Given the description of an element on the screen output the (x, y) to click on. 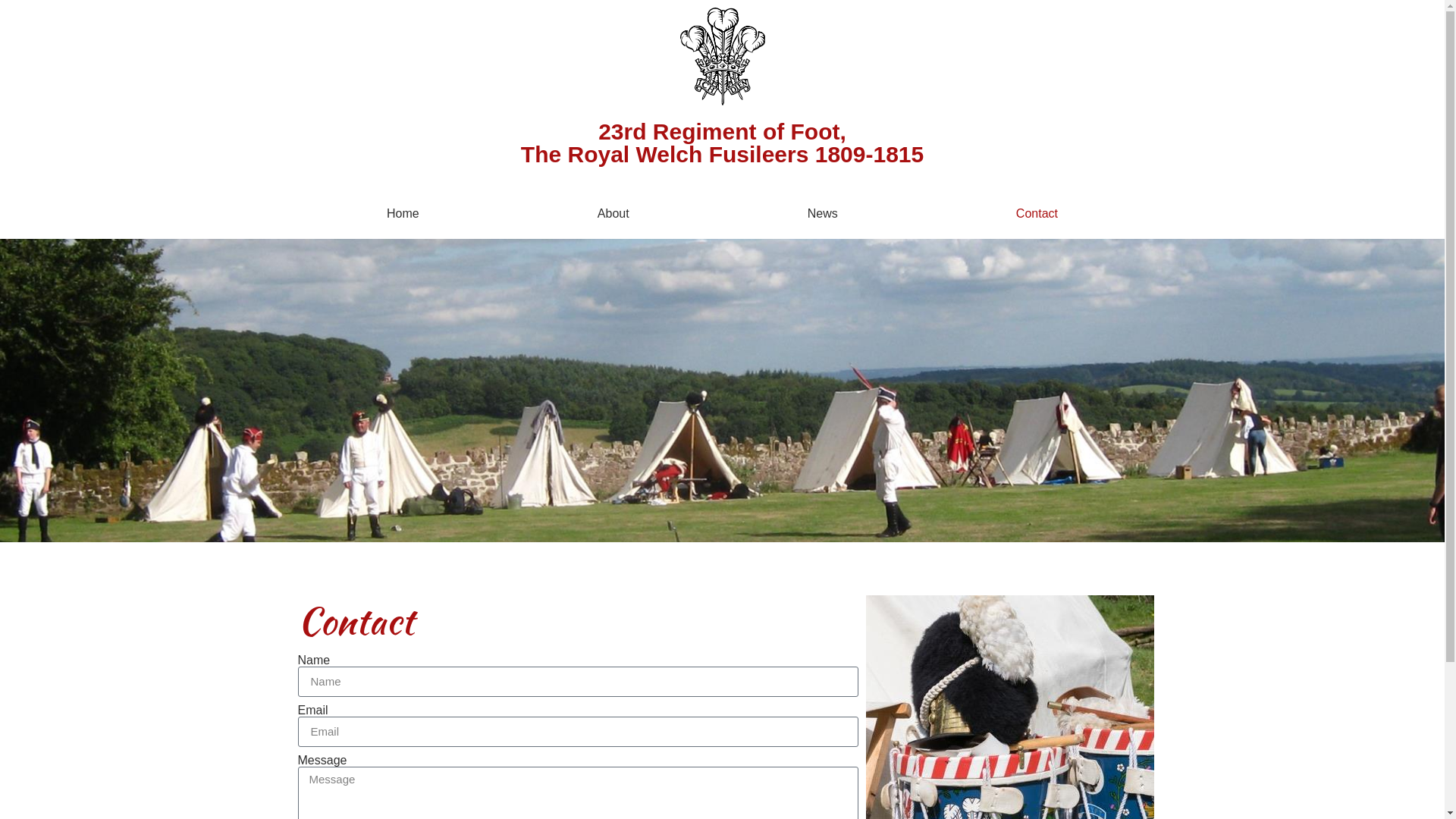
Contact Element type: text (1036, 213)
Home Element type: text (402, 213)
News Element type: text (822, 213)
About Element type: text (613, 213)
